Given the description of an element on the screen output the (x, y) to click on. 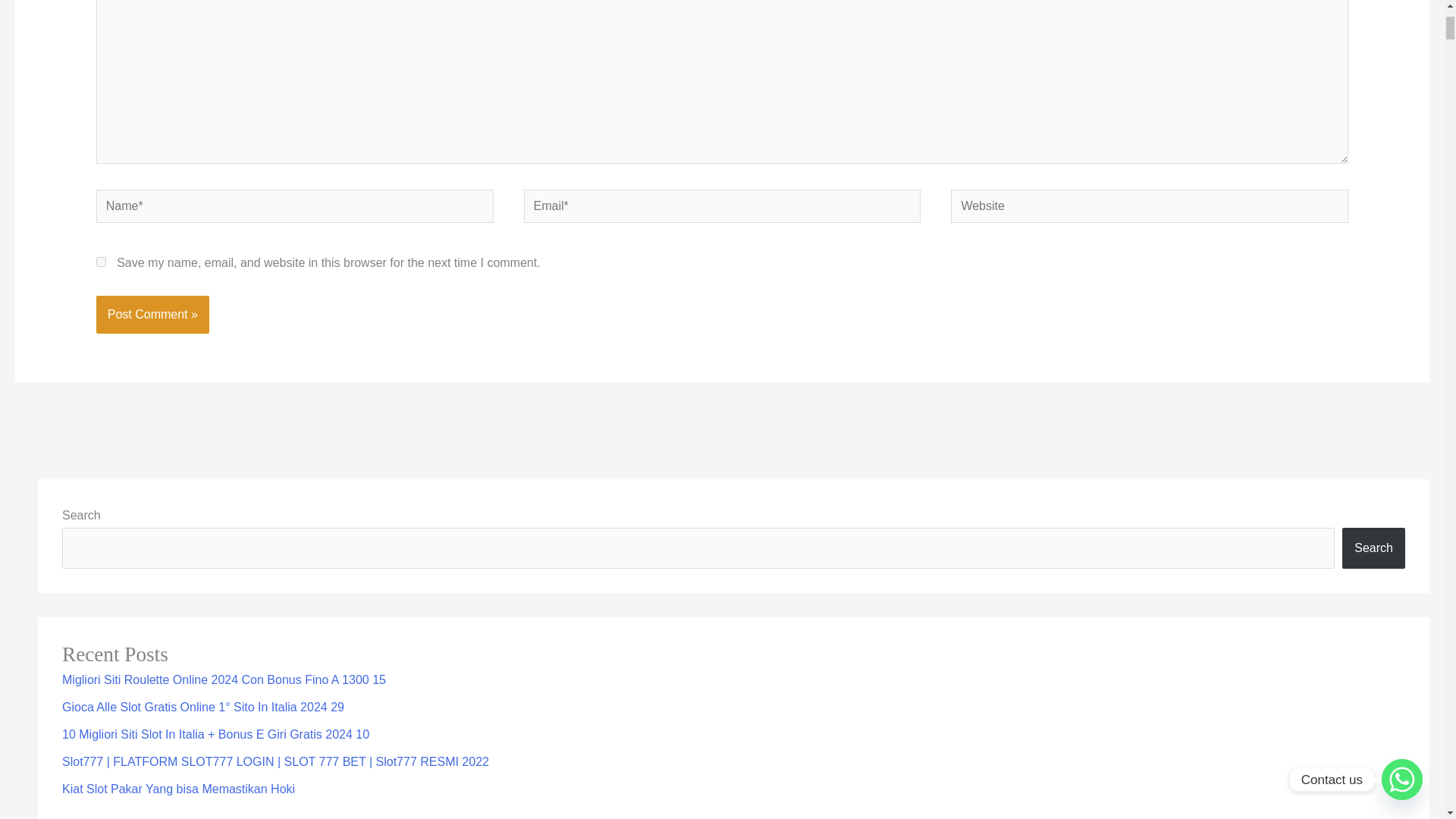
yes (101, 261)
Search (1373, 547)
Migliori Siti Roulette Online 2024 Con Bonus Fino A 1300 15 (223, 679)
